Given the description of an element on the screen output the (x, y) to click on. 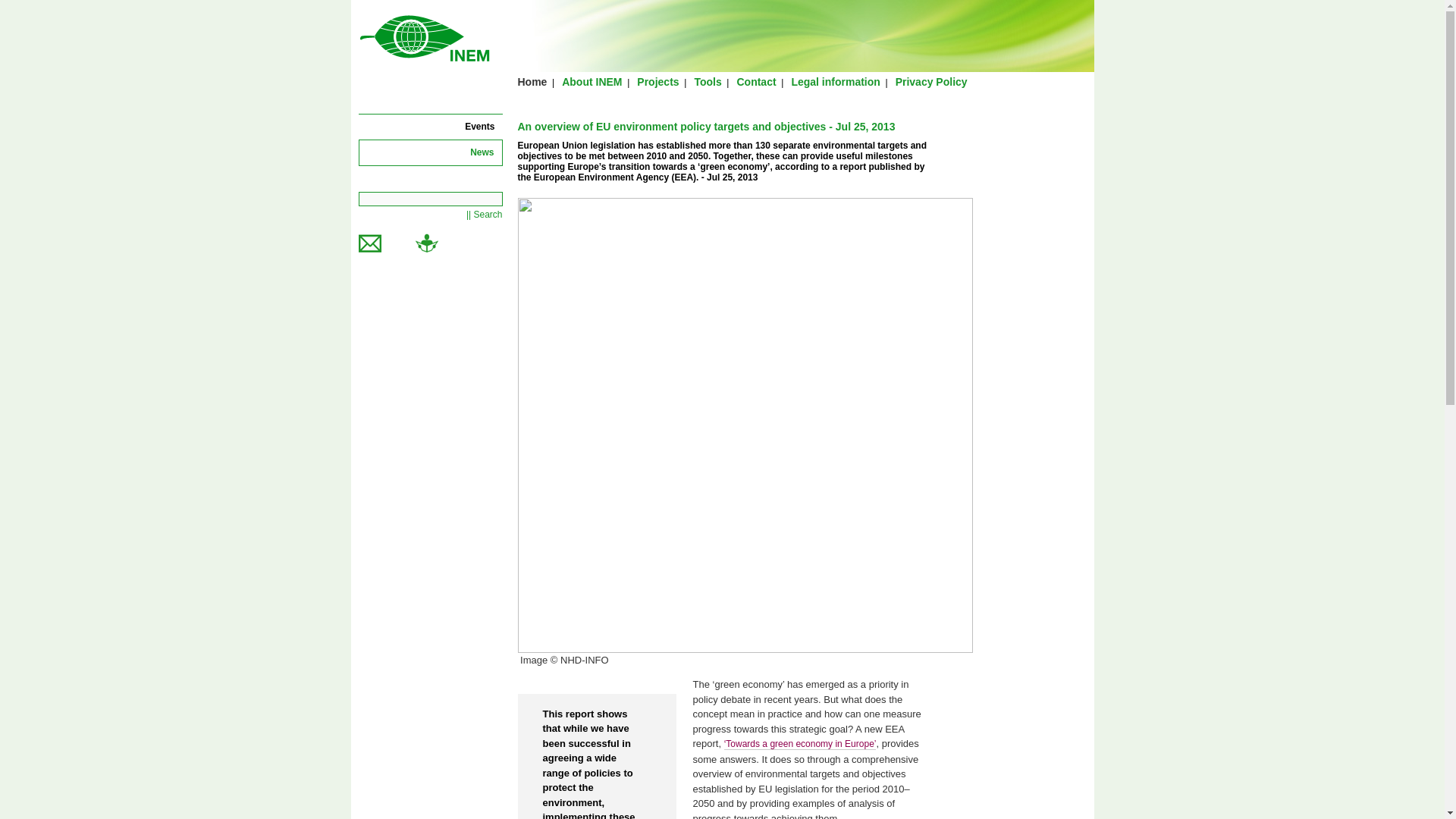
News (481, 152)
Projects (657, 81)
About INEM (591, 81)
Privacy Policy (931, 81)
Legal information (834, 81)
Tools (707, 81)
Home (531, 81)
Events (479, 126)
Contact (756, 81)
